Given the description of an element on the screen output the (x, y) to click on. 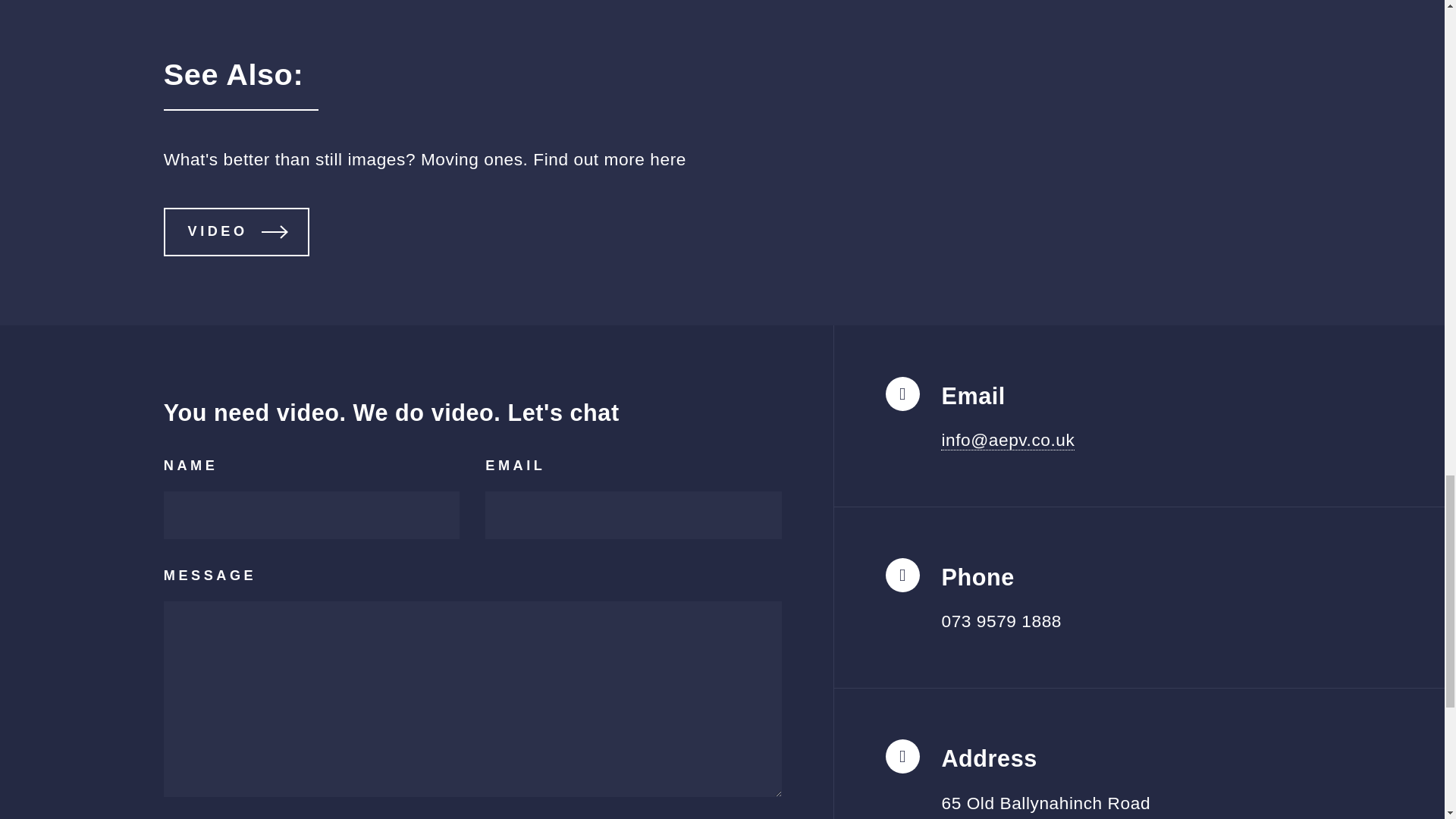
VIDEO (235, 231)
